Given the description of an element on the screen output the (x, y) to click on. 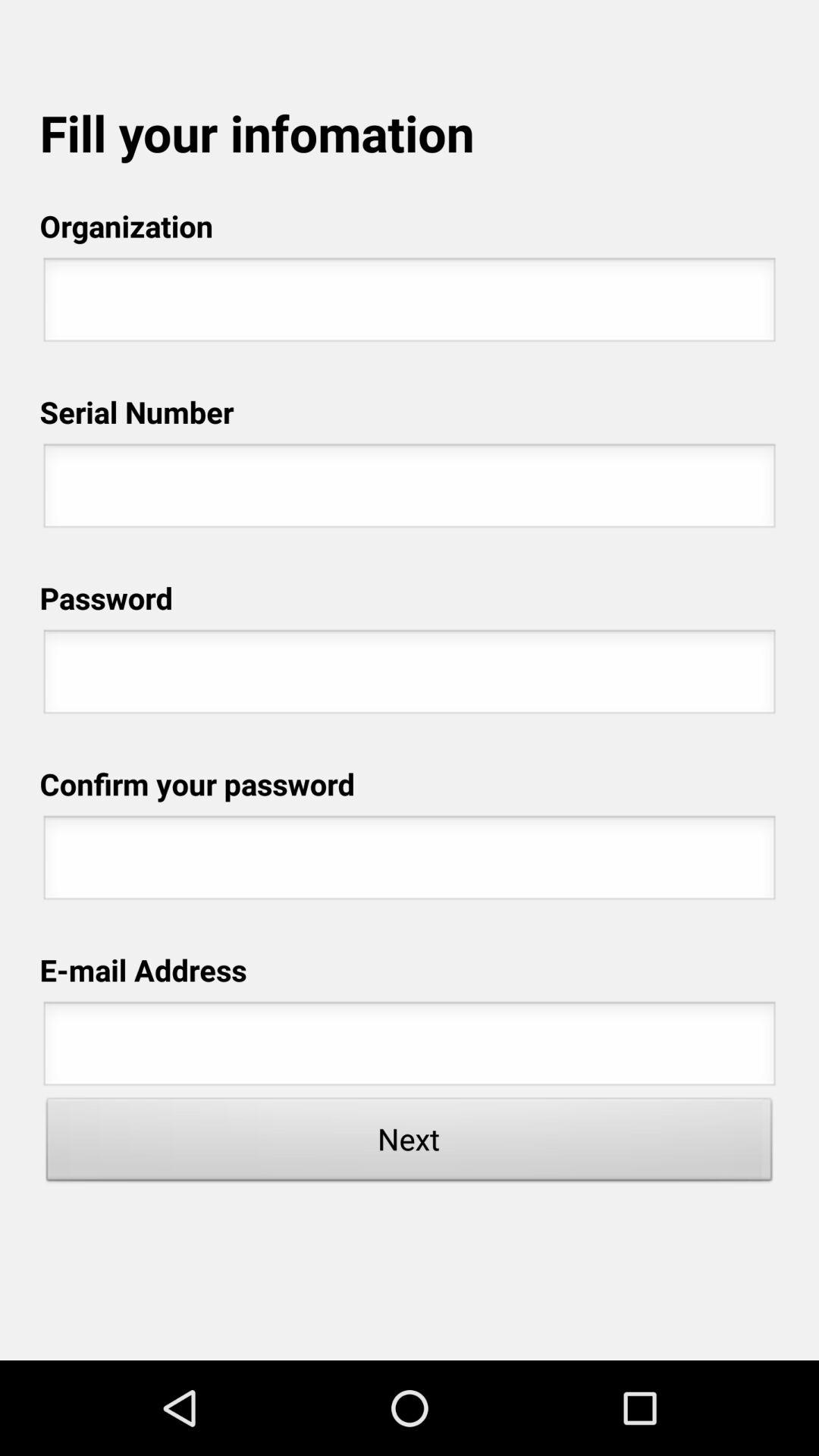
enter the password (409, 676)
